Given the description of an element on the screen output the (x, y) to click on. 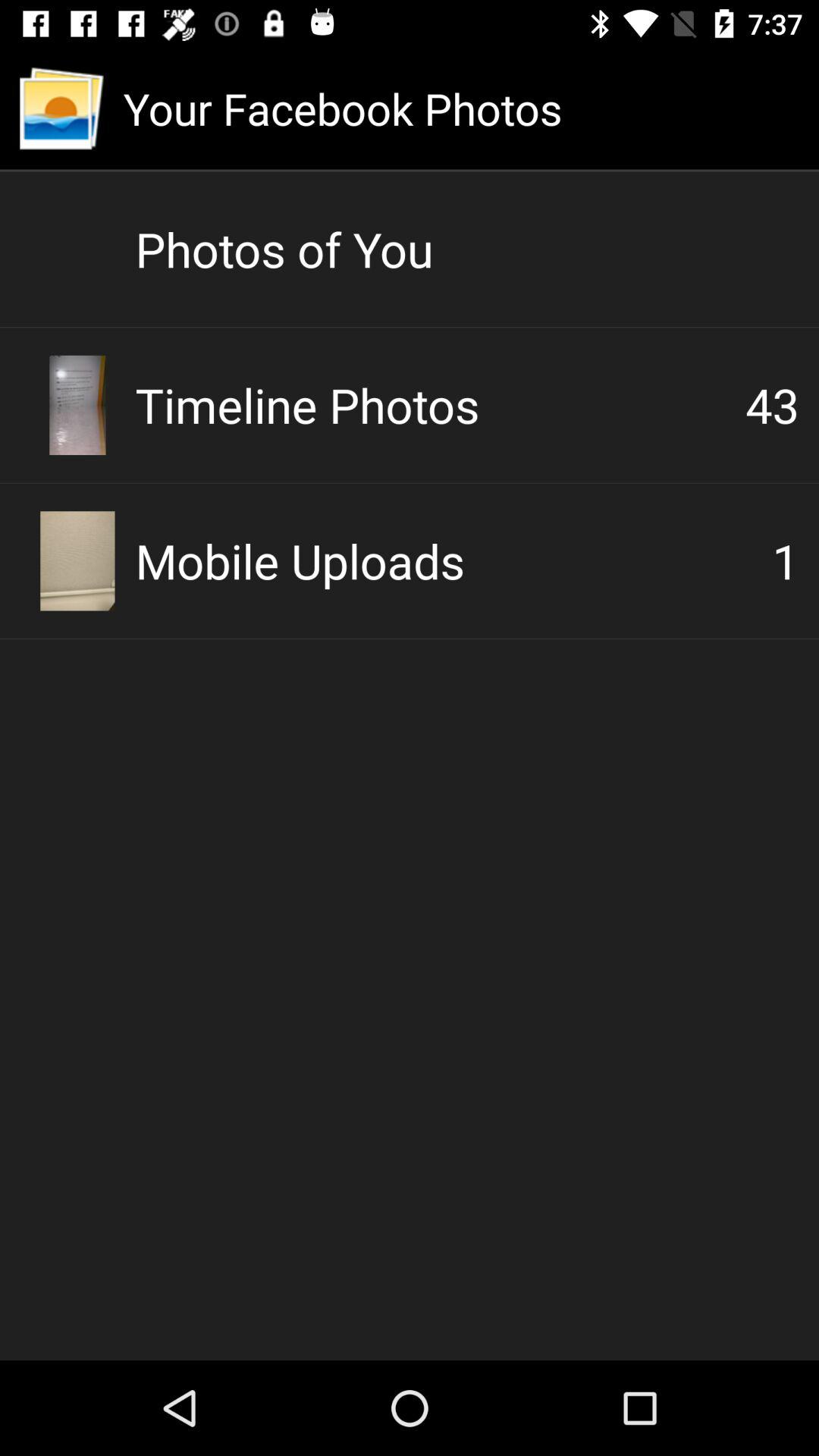
turn on the mobile uploads (453, 560)
